Given the description of an element on the screen output the (x, y) to click on. 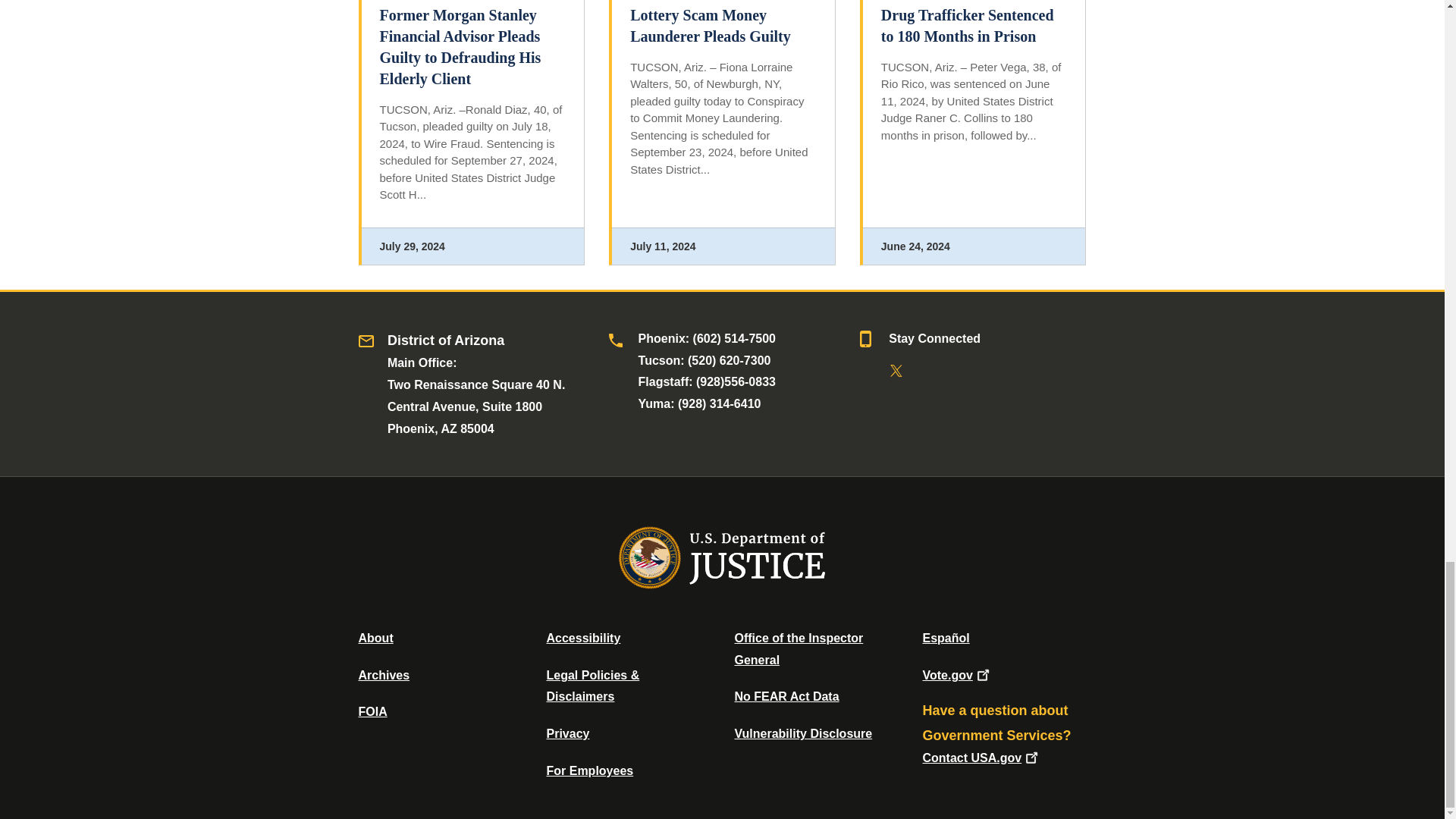
About DOJ (375, 637)
Legal Policies and Disclaimers (592, 686)
For Employees (589, 770)
Data Posted Pursuant To The No Fear Act (785, 696)
Accessibility Statement (583, 637)
Office of Information Policy (372, 711)
Department of Justice Archive (383, 675)
